Given the description of an element on the screen output the (x, y) to click on. 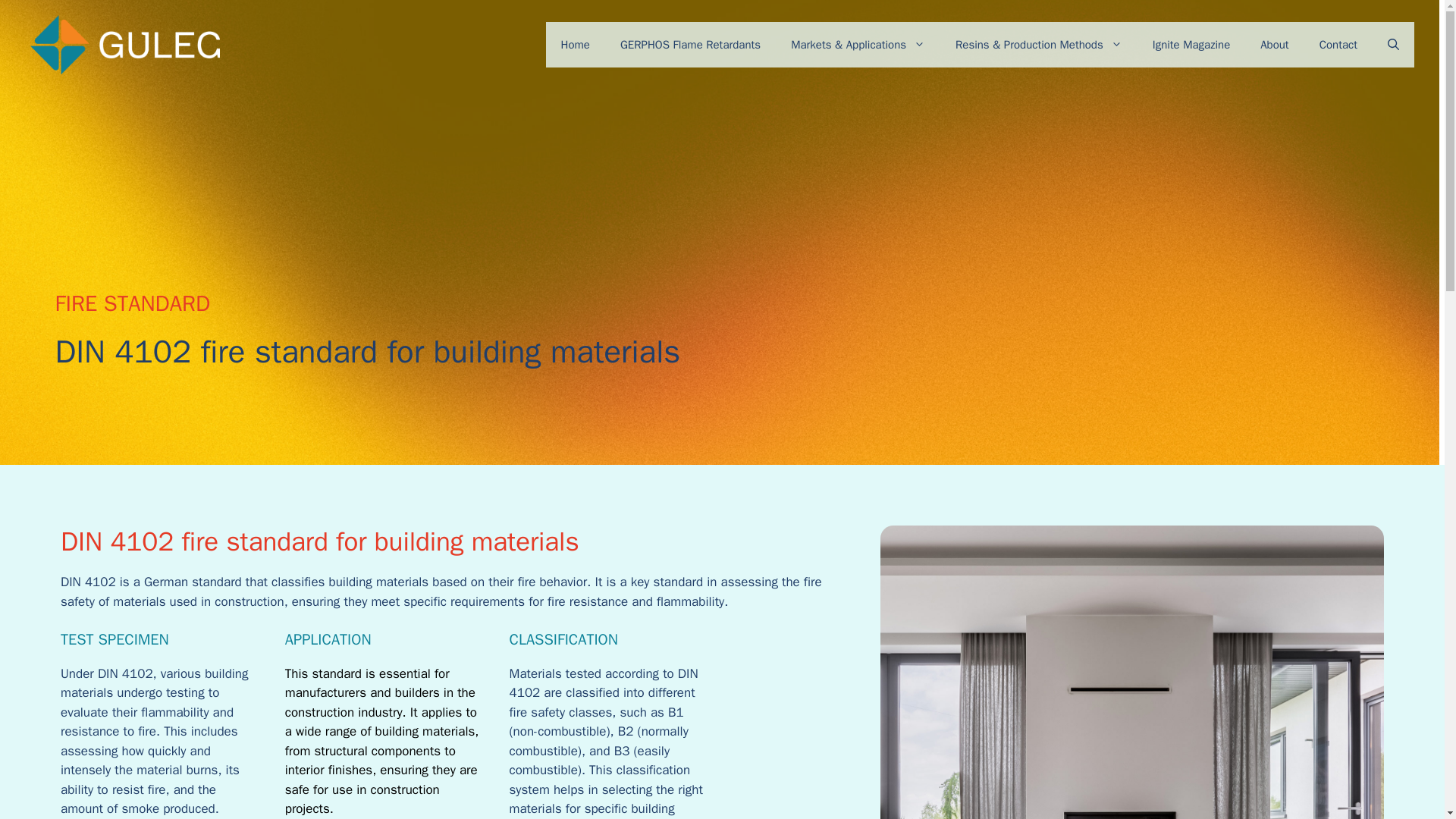
Contact (1338, 44)
GERPHOS Flame Retardants (690, 44)
About (1273, 44)
Gulec Chemicals (124, 44)
Home (575, 44)
Ignite Magazine (1190, 44)
Gulec Chemicals (124, 43)
